Given the description of an element on the screen output the (x, y) to click on. 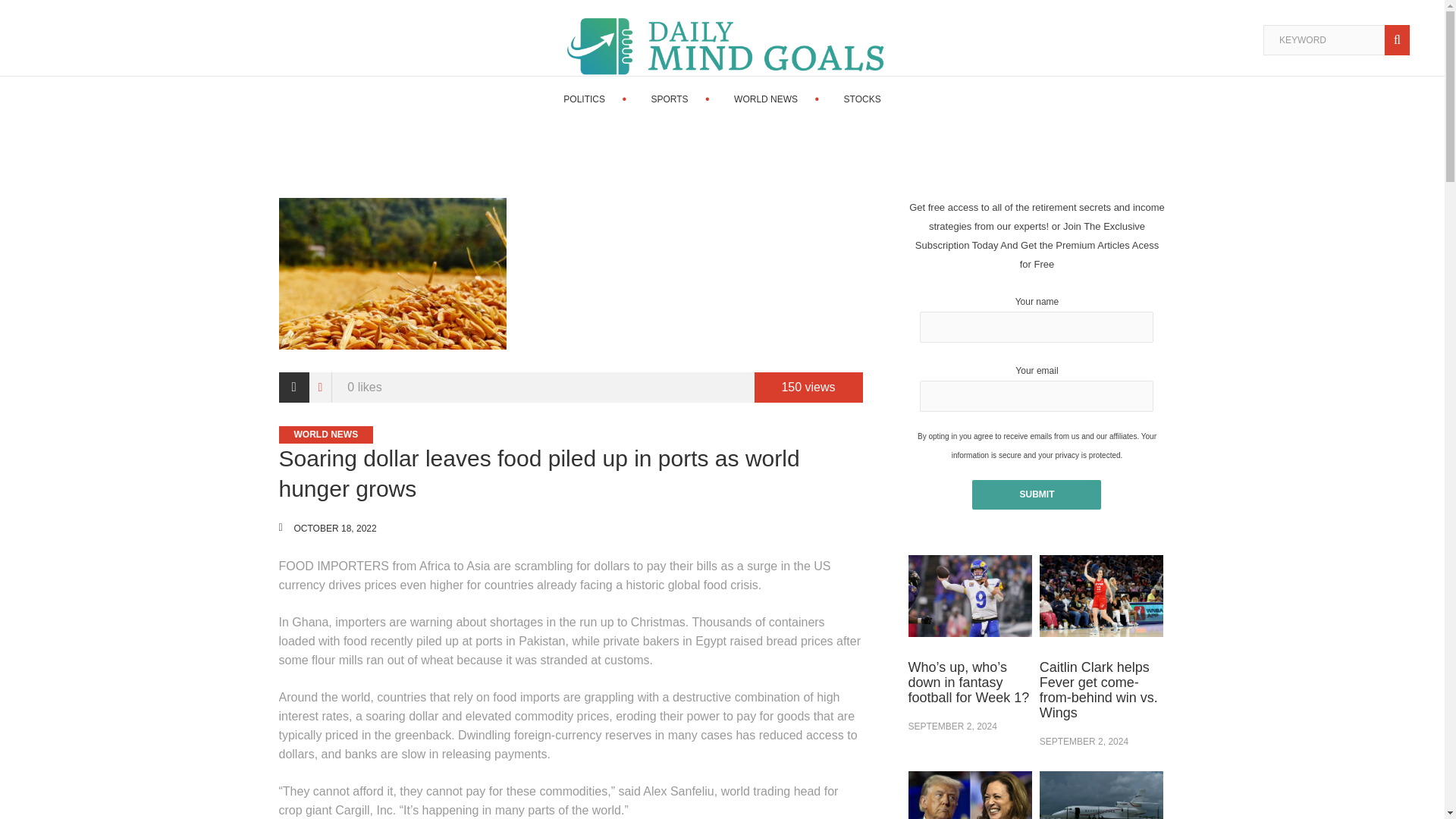
SPORTS (668, 98)
WORLD NEWS (765, 98)
Search (1399, 40)
Submit (1036, 493)
Submit (1036, 493)
Caitlin Clark helps Fever get come-from-behind win vs. Wings (1098, 690)
Search (1399, 40)
Sports (668, 98)
Politics (584, 98)
POLITICS (584, 98)
